Given the description of an element on the screen output the (x, y) to click on. 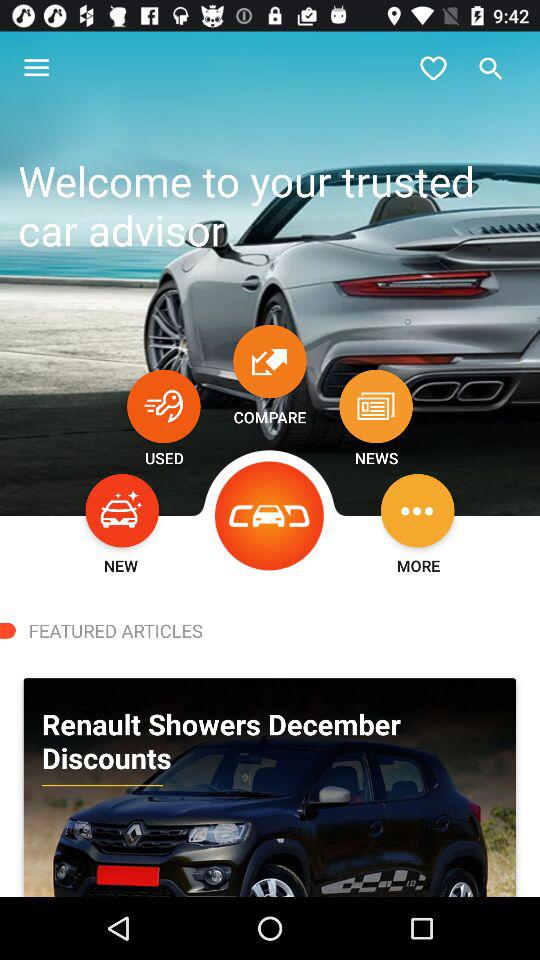
press the icon next to the news (269, 515)
